Given the description of an element on the screen output the (x, y) to click on. 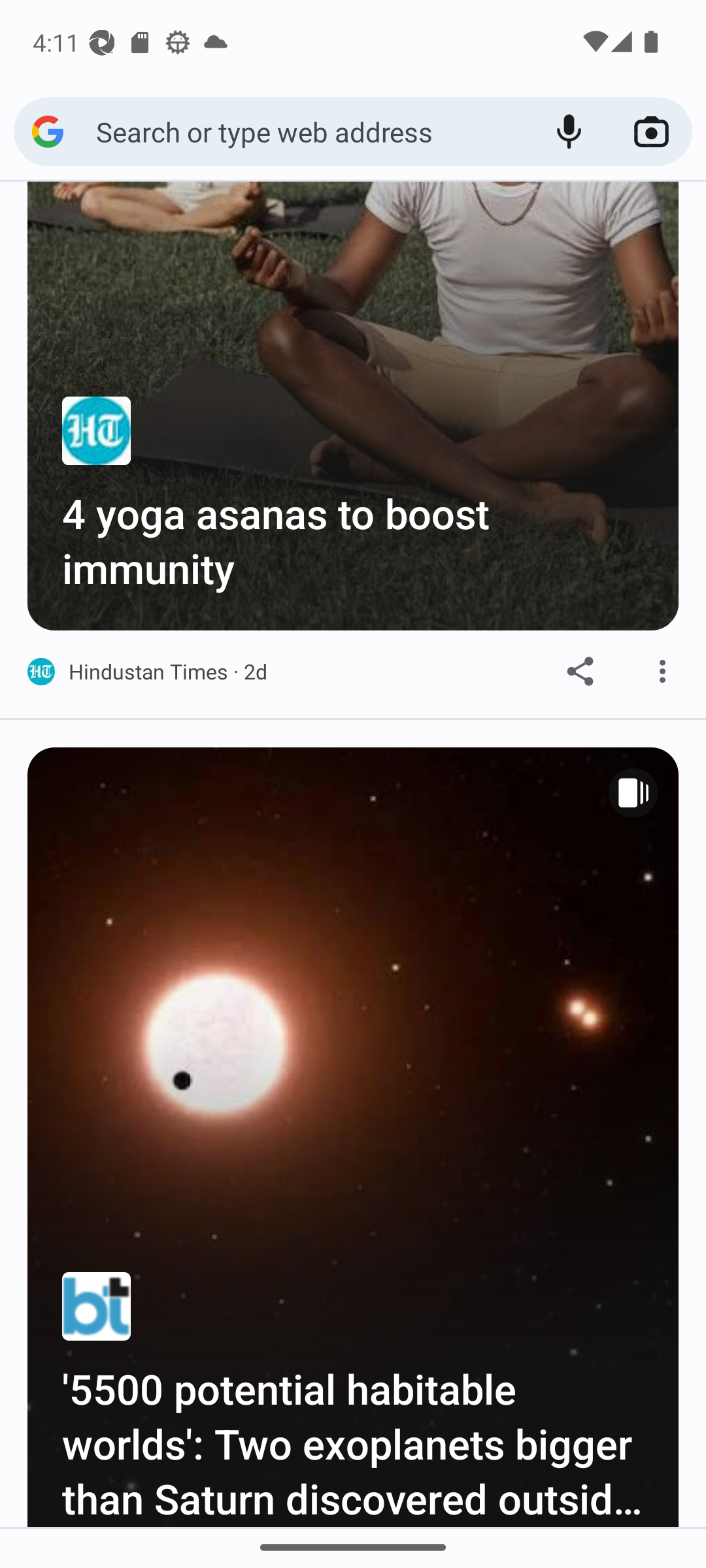
Start voice search (568, 131)
Search with your camera using Google Lens (650, 131)
Search or type web address (311, 131)
Share 4 yoga asanas to boost immunity (580, 671)
Card Menu 4 yoga asanas to boost immunity (662, 671)
